Given the description of an element on the screen output the (x, y) to click on. 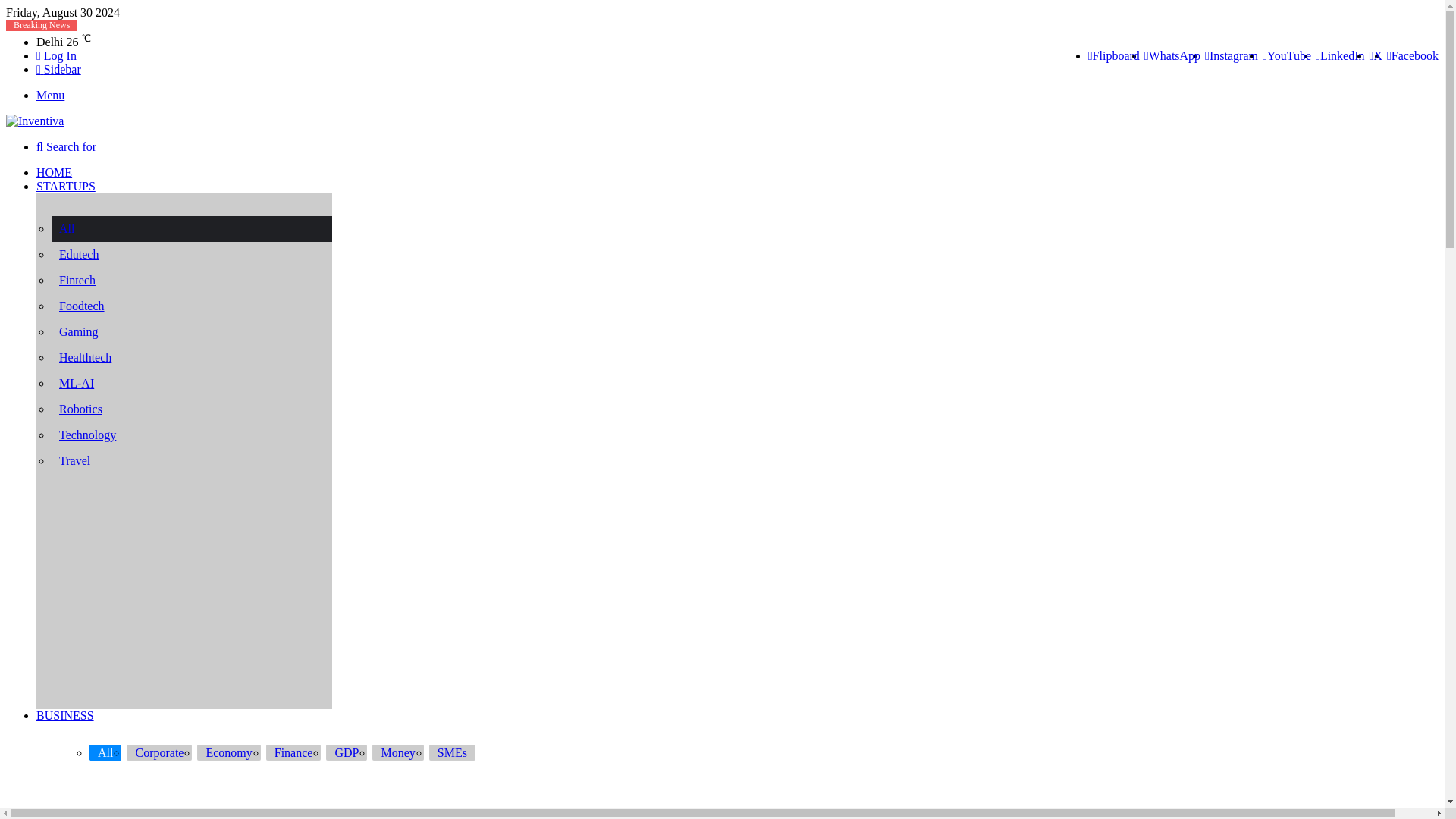
Facebook (1412, 55)
Healthtech (198, 357)
Search for (66, 146)
Fintech (198, 280)
WhatsApp (1171, 55)
Finance (293, 752)
All (198, 228)
Gaming (198, 331)
Log In (56, 55)
Robotics (198, 409)
